Given the description of an element on the screen output the (x, y) to click on. 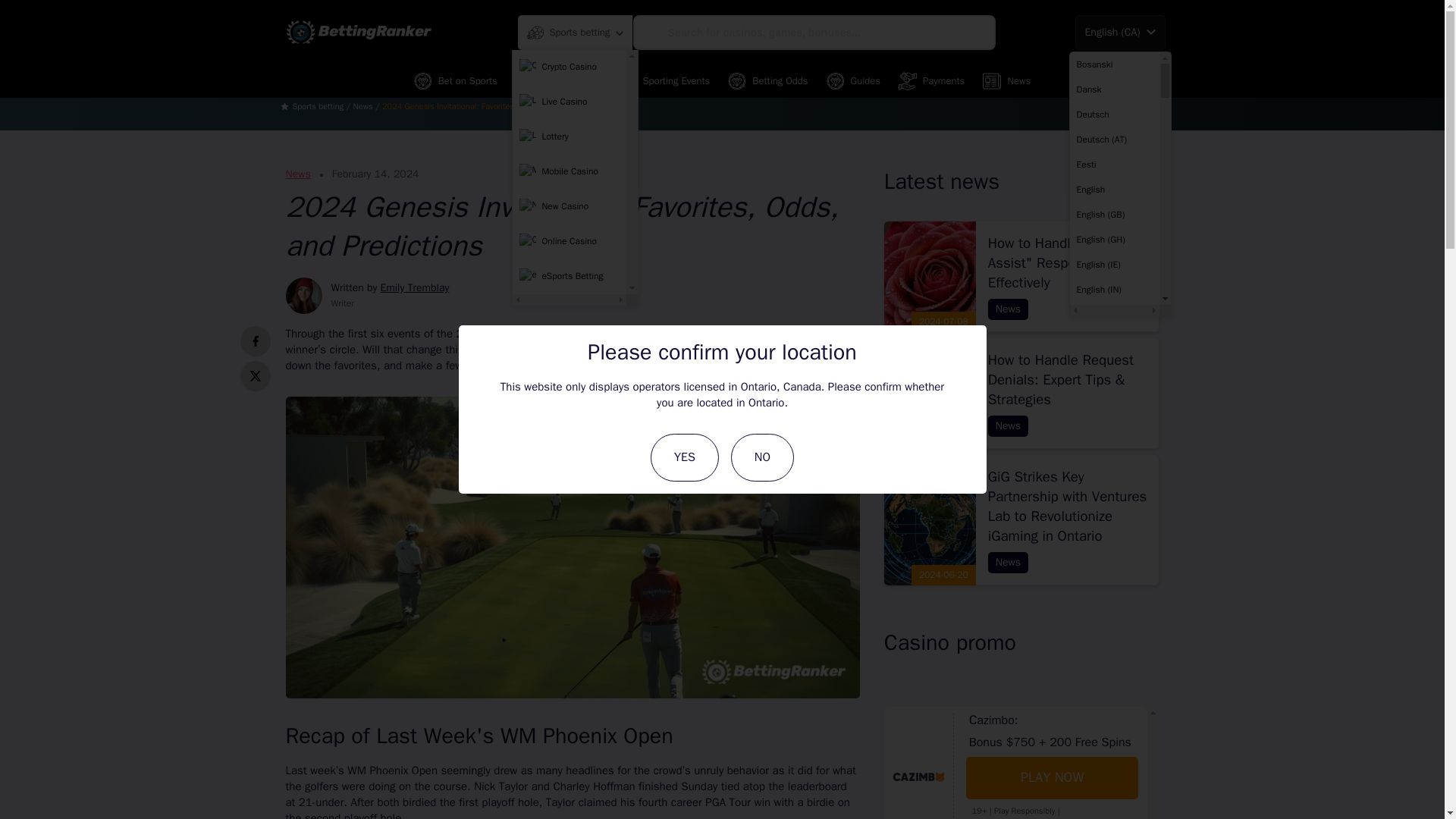
Deutsch (1113, 113)
Hrvatski (1113, 810)
Bosanski (1113, 63)
Crypto Casino (569, 67)
New Casino (569, 206)
English (1113, 189)
Online Casino (569, 241)
Eesti (1113, 163)
eSports Betting (569, 276)
Live Casino (569, 102)
Dansk (1113, 89)
Mobile Casino (569, 172)
Lottery (569, 136)
